Given the description of an element on the screen output the (x, y) to click on. 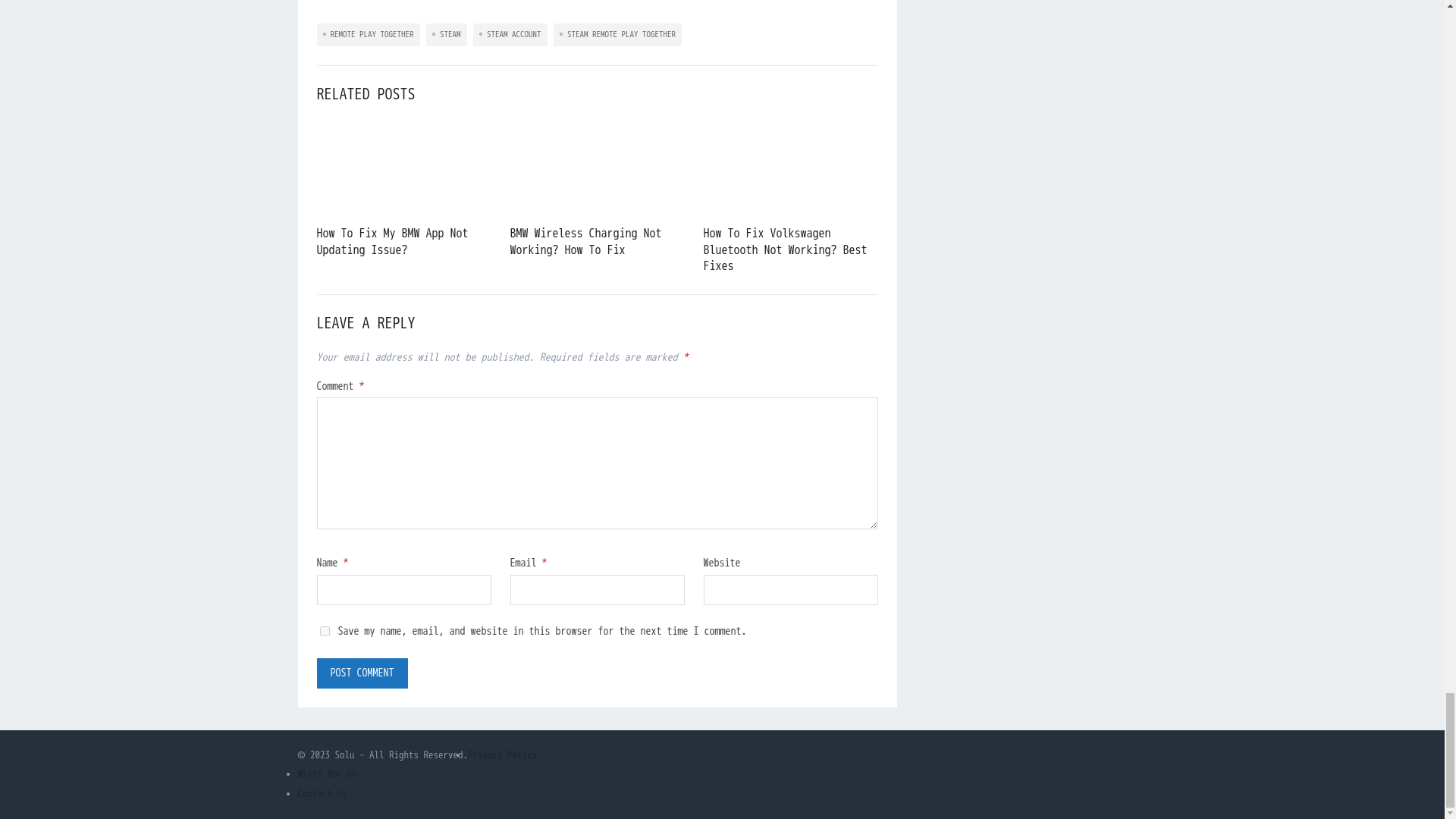
yes (325, 631)
Post Comment (362, 673)
